Given the description of an element on the screen output the (x, y) to click on. 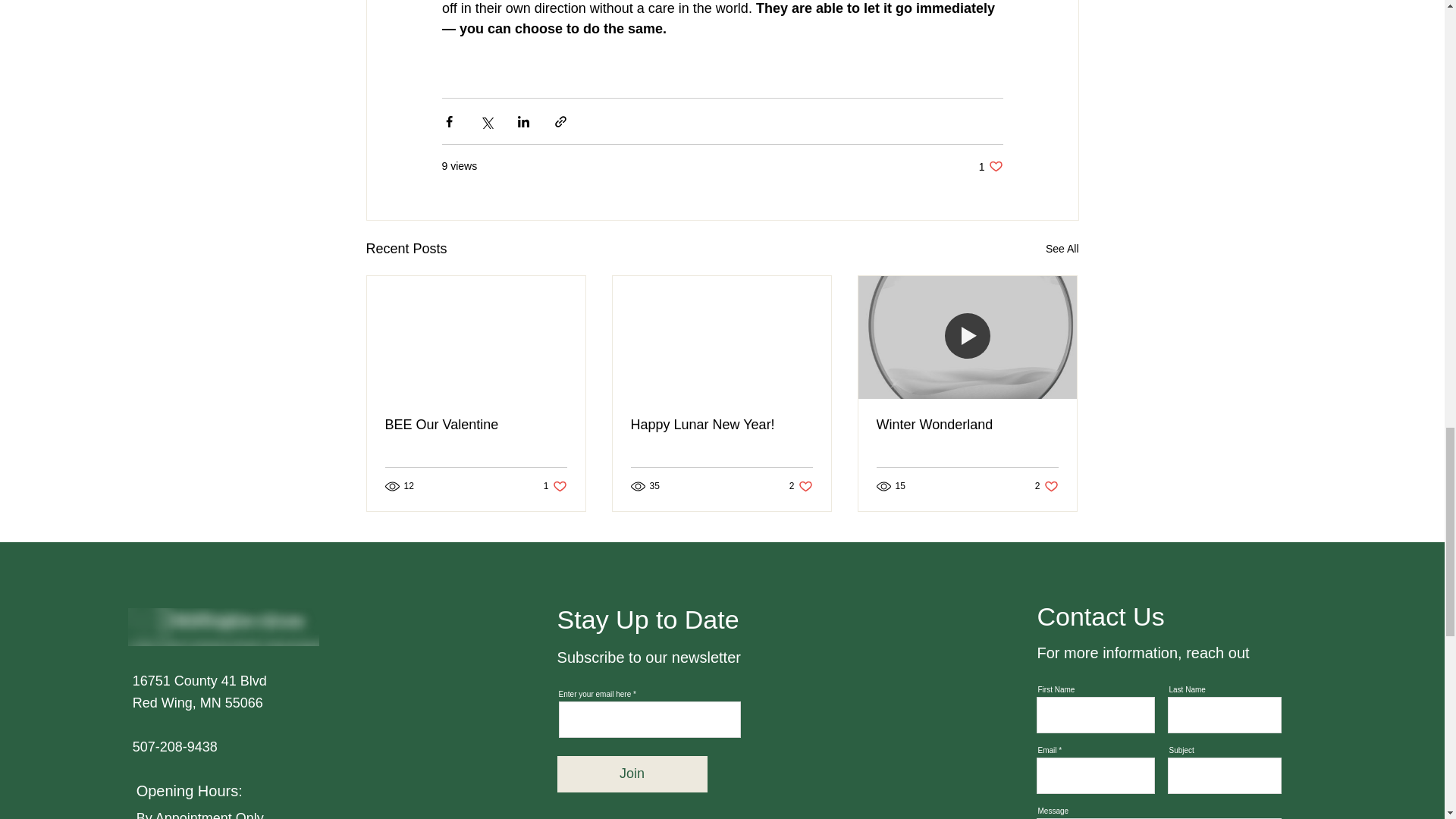
Happy Lunar New Year! (721, 424)
See All (555, 486)
BEE Our Valentine (1061, 249)
Join (1046, 486)
Winter Wonderland (990, 165)
